Given the description of an element on the screen output the (x, y) to click on. 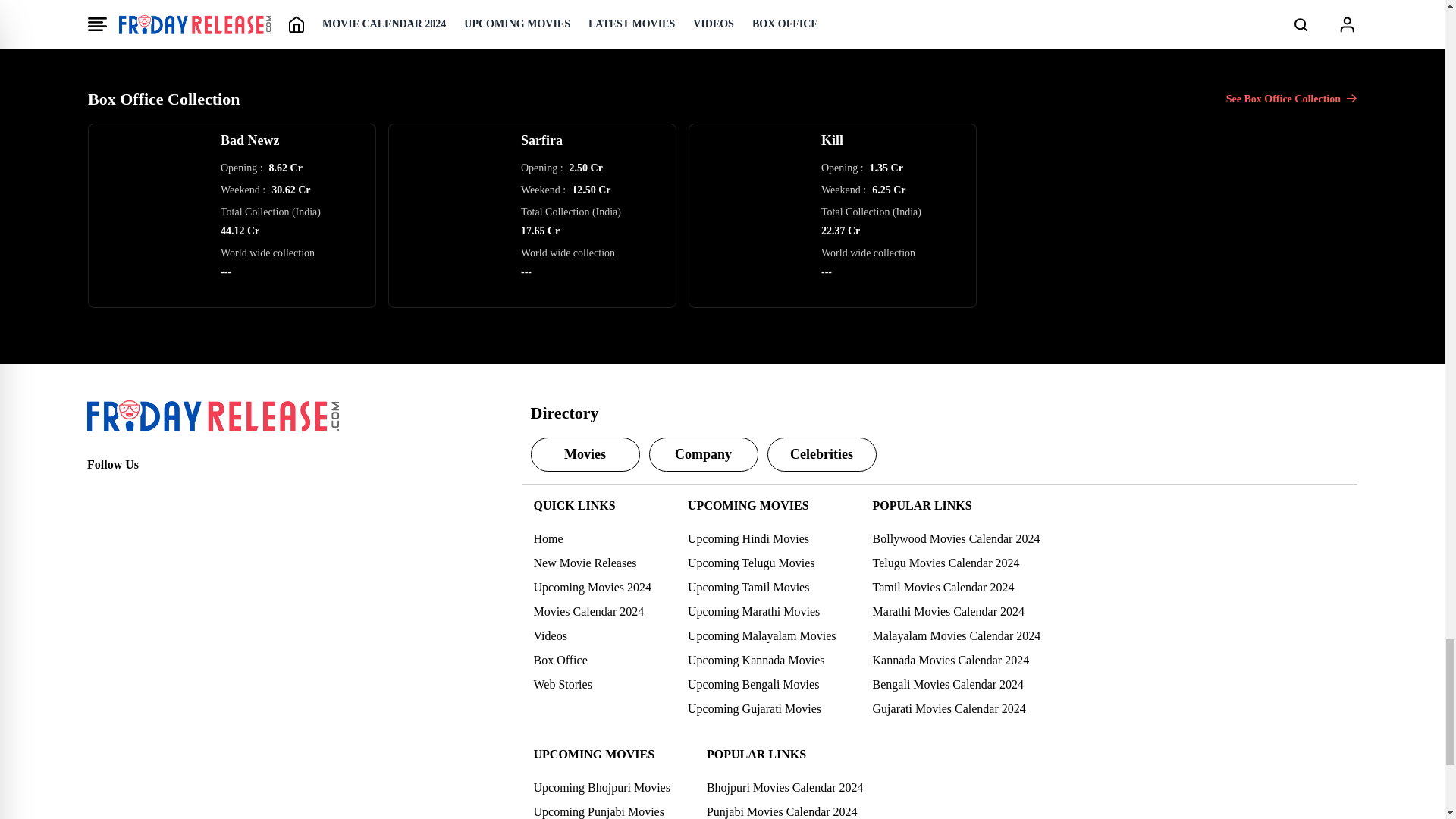
Youtube Page (199, 491)
Twitter Page (132, 491)
Instagram Page (165, 491)
Facebook Page (99, 491)
